Given the description of an element on the screen output the (x, y) to click on. 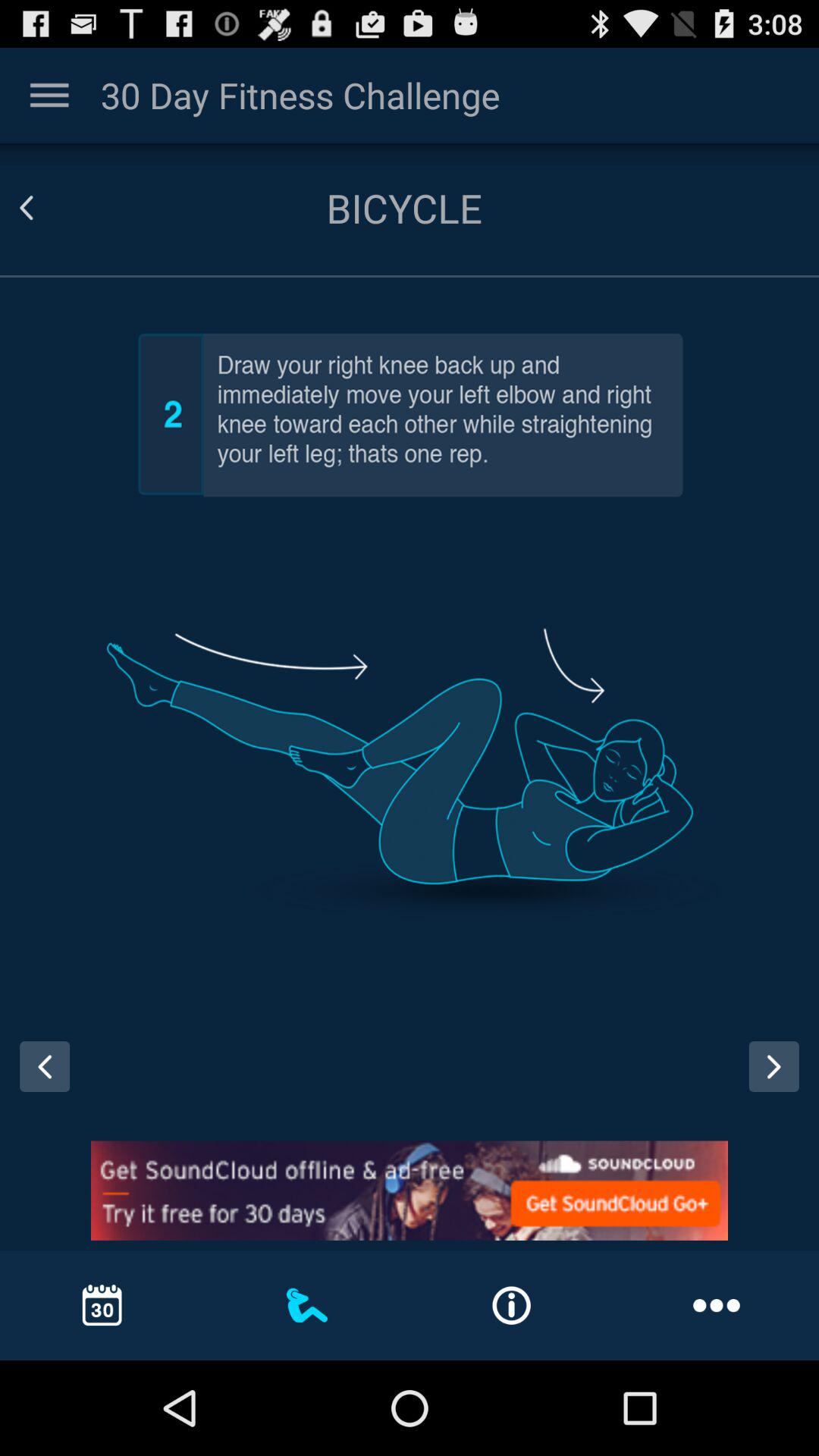
go back one page (39, 1081)
